Given the description of an element on the screen output the (x, y) to click on. 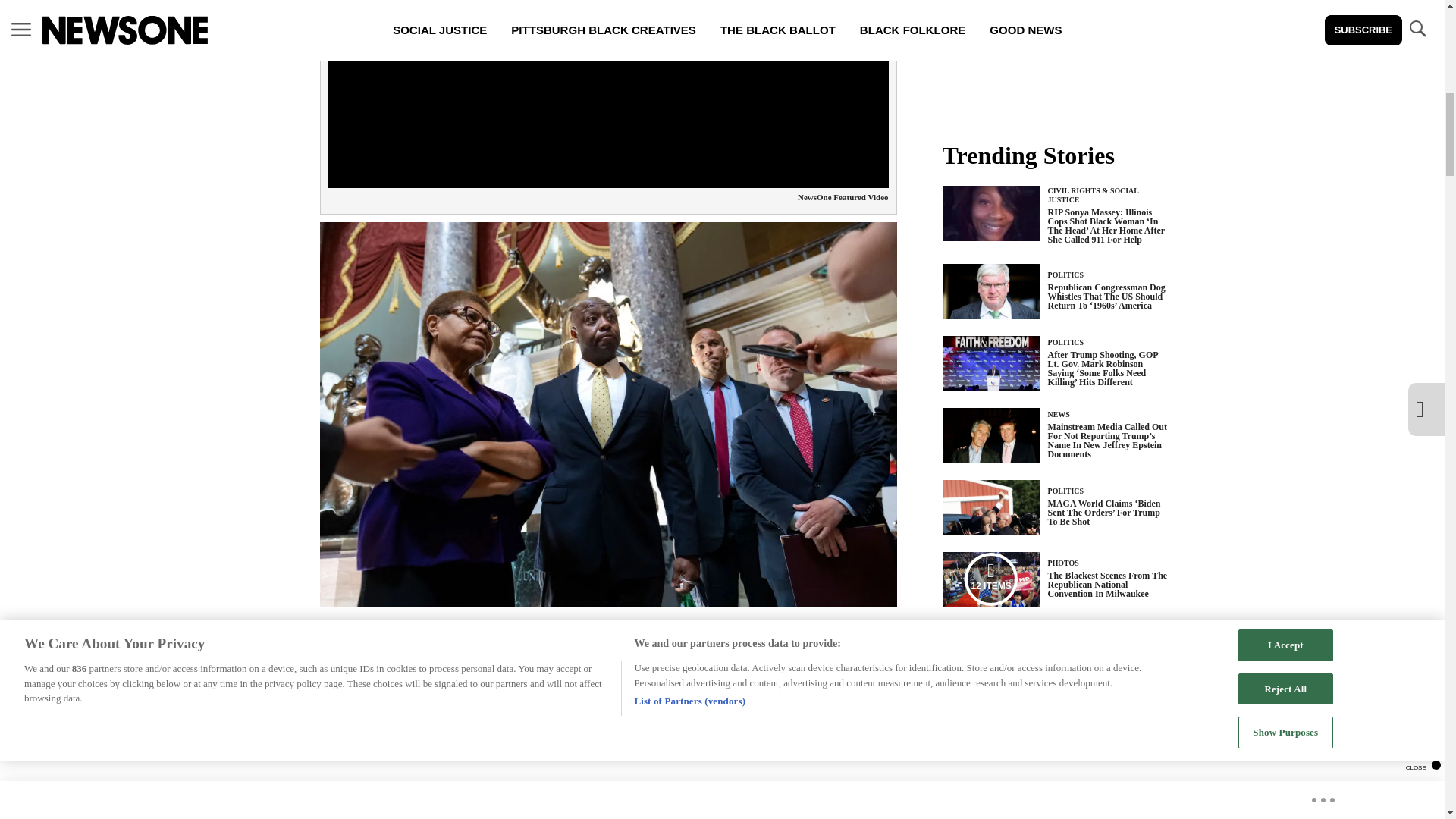
Media Playlist (990, 579)
Tim Scott (858, 671)
